Given the description of an element on the screen output the (x, y) to click on. 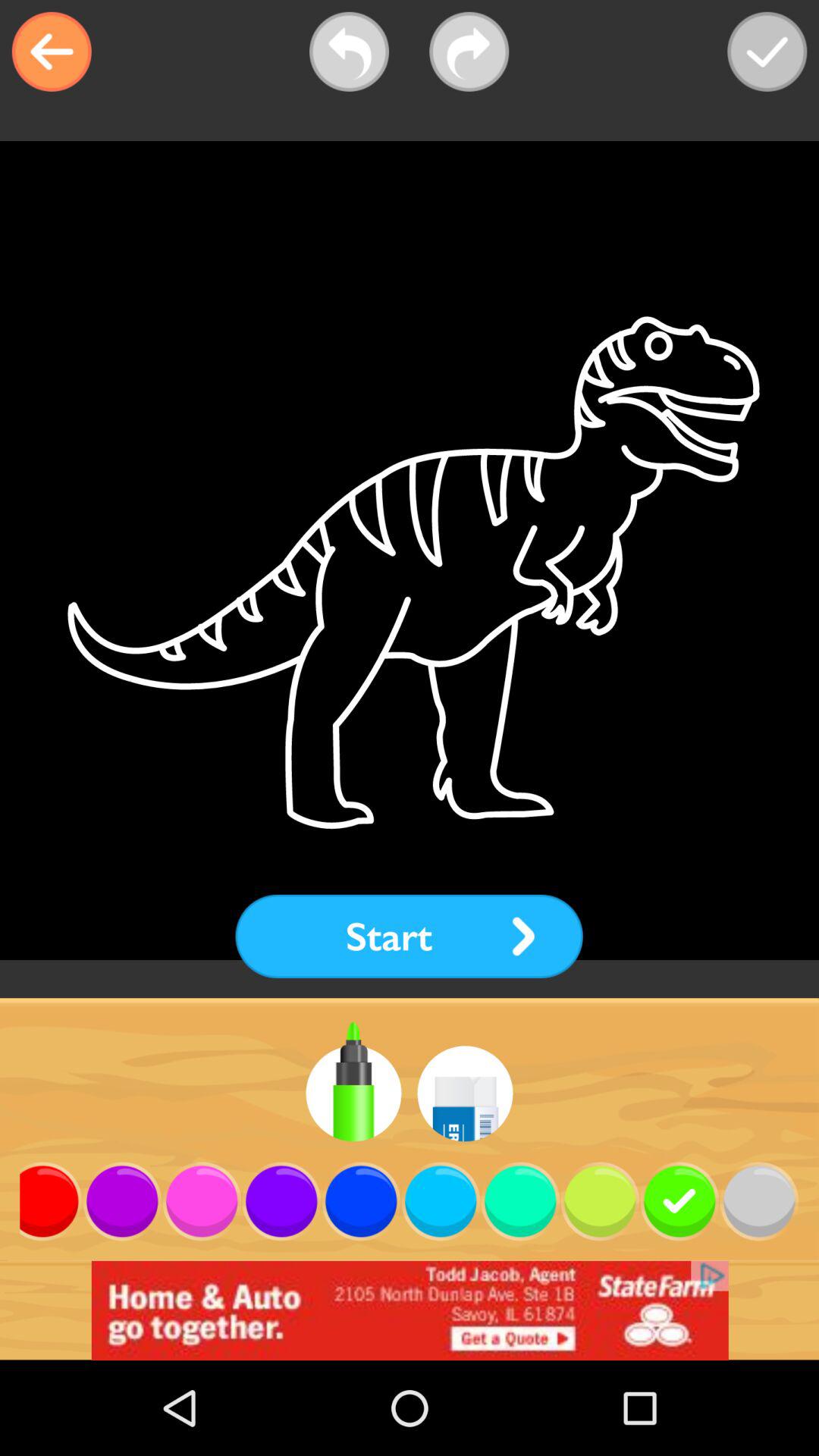
advertisement banner (409, 1310)
